Given the description of an element on the screen output the (x, y) to click on. 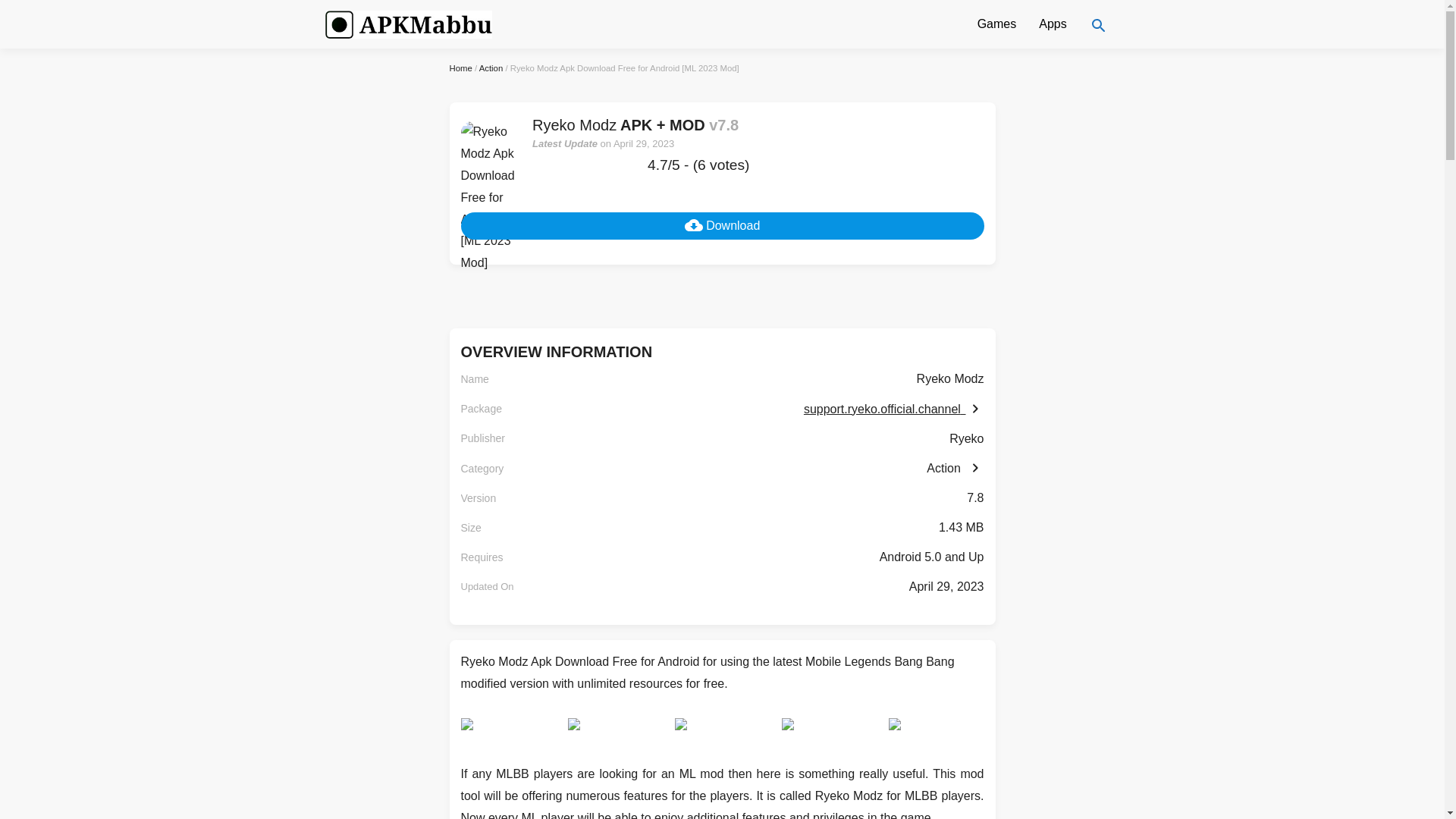
Action (955, 468)
Apps (1052, 24)
support.ryeko.official.channel (893, 408)
Home (459, 67)
Action (491, 67)
Download (722, 225)
Games (996, 24)
